Given the description of an element on the screen output the (x, y) to click on. 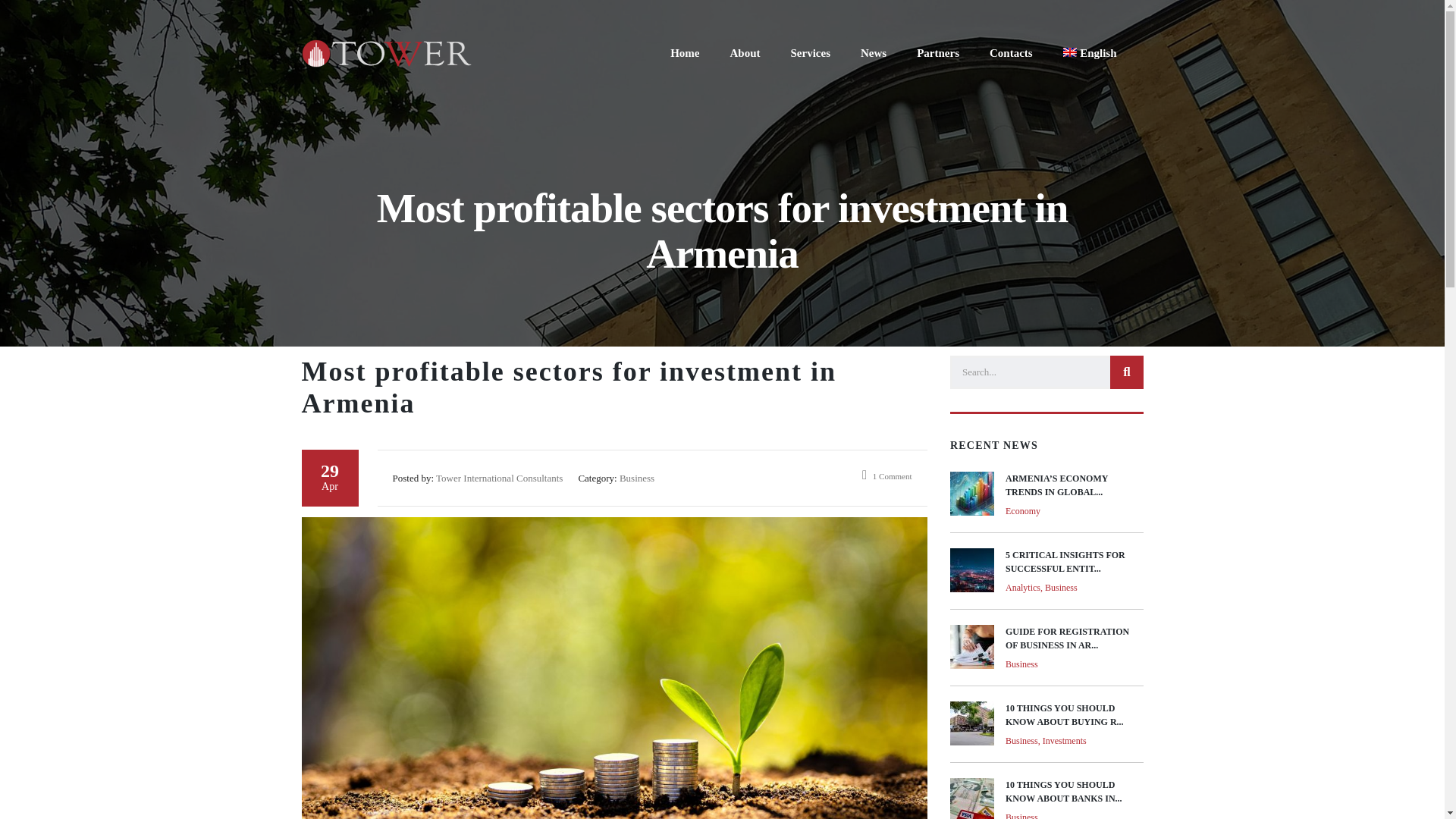
About (744, 54)
Guide for Registration of Business in Armenia (1045, 655)
Contacts (1011, 54)
Tower International Consultants (1045, 655)
Partners (386, 52)
Home (1045, 798)
Economy Growth concept (937, 54)
Yerevan night panorama (684, 54)
English (970, 493)
The fundamentals of registering your business in Armenia (970, 569)
